Given the description of an element on the screen output the (x, y) to click on. 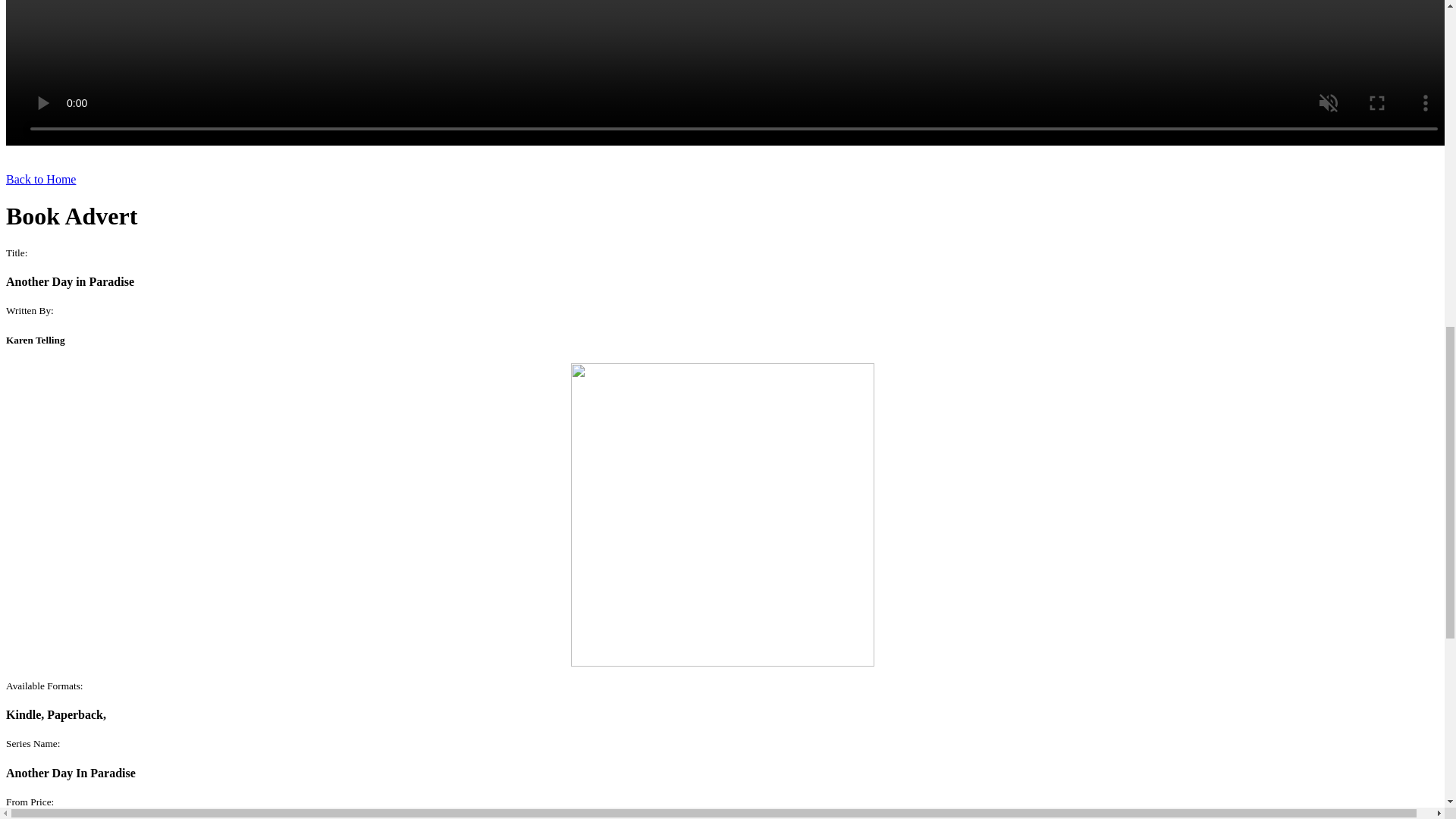
Back to Home (40, 178)
